Given the description of an element on the screen output the (x, y) to click on. 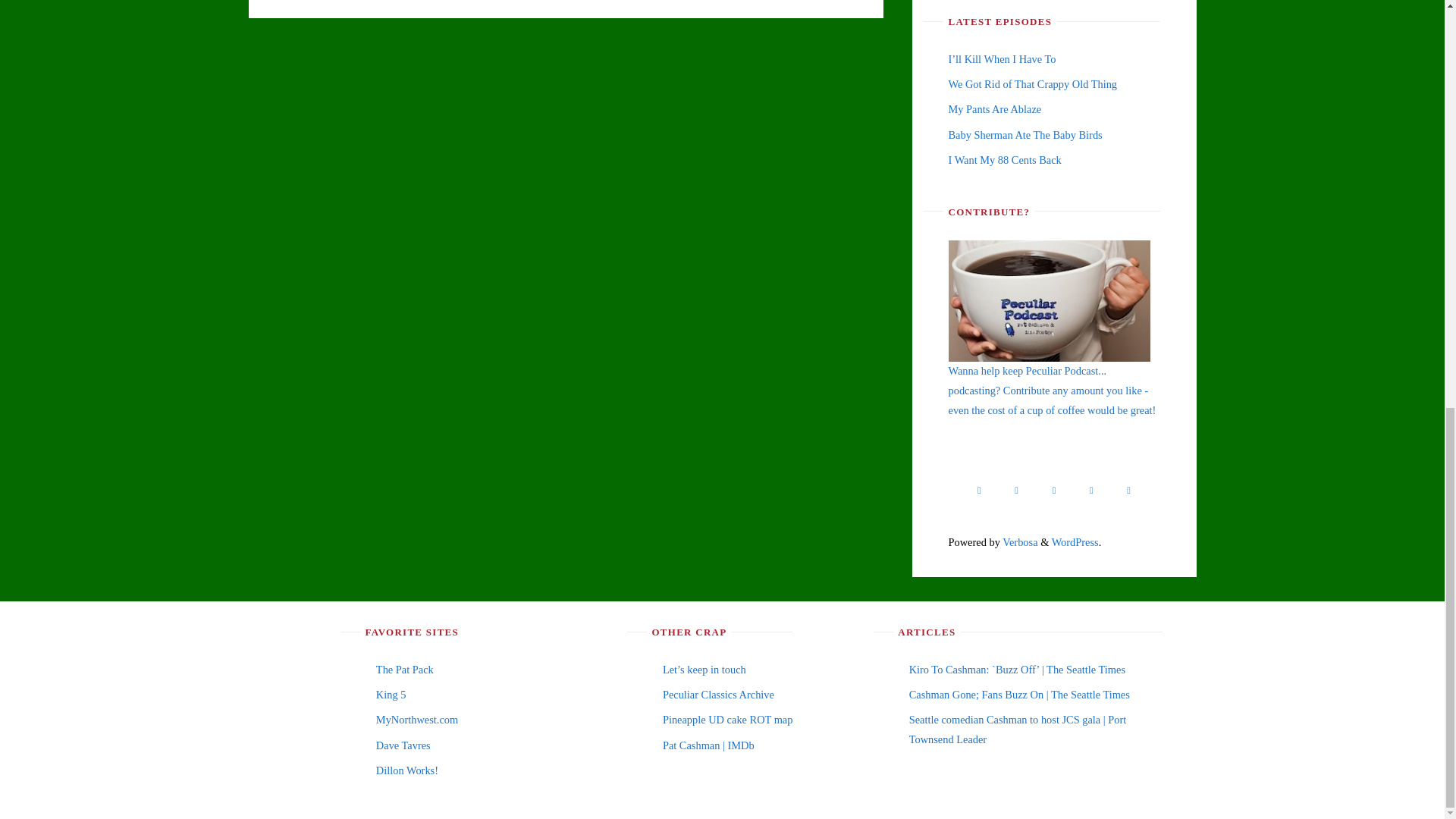
April 7, 1999 (1016, 669)
Home to fans of the Pat Cashman Show (404, 669)
Seattle news, sports, weather, traffic, talk and community. (416, 719)
I Want My 88 Cents Back (1004, 159)
Baby Sherman Ate The Baby Birds (1024, 134)
Seattle News, Local News, Breaking News and Weather (390, 694)
WordPress (1075, 541)
Semantic Personal Publishing Platform (1075, 541)
Verbosa WordPress Theme by Cryout Creations (1019, 541)
My Pants Are Ablaze (994, 109)
Verbosa (1019, 541)
They think outside the box! (406, 770)
We Got Rid of That Crappy Old Thing (1031, 83)
Web Guru, Internet Marketing Consultant, Entrepreneur (402, 745)
